Given the description of an element on the screen output the (x, y) to click on. 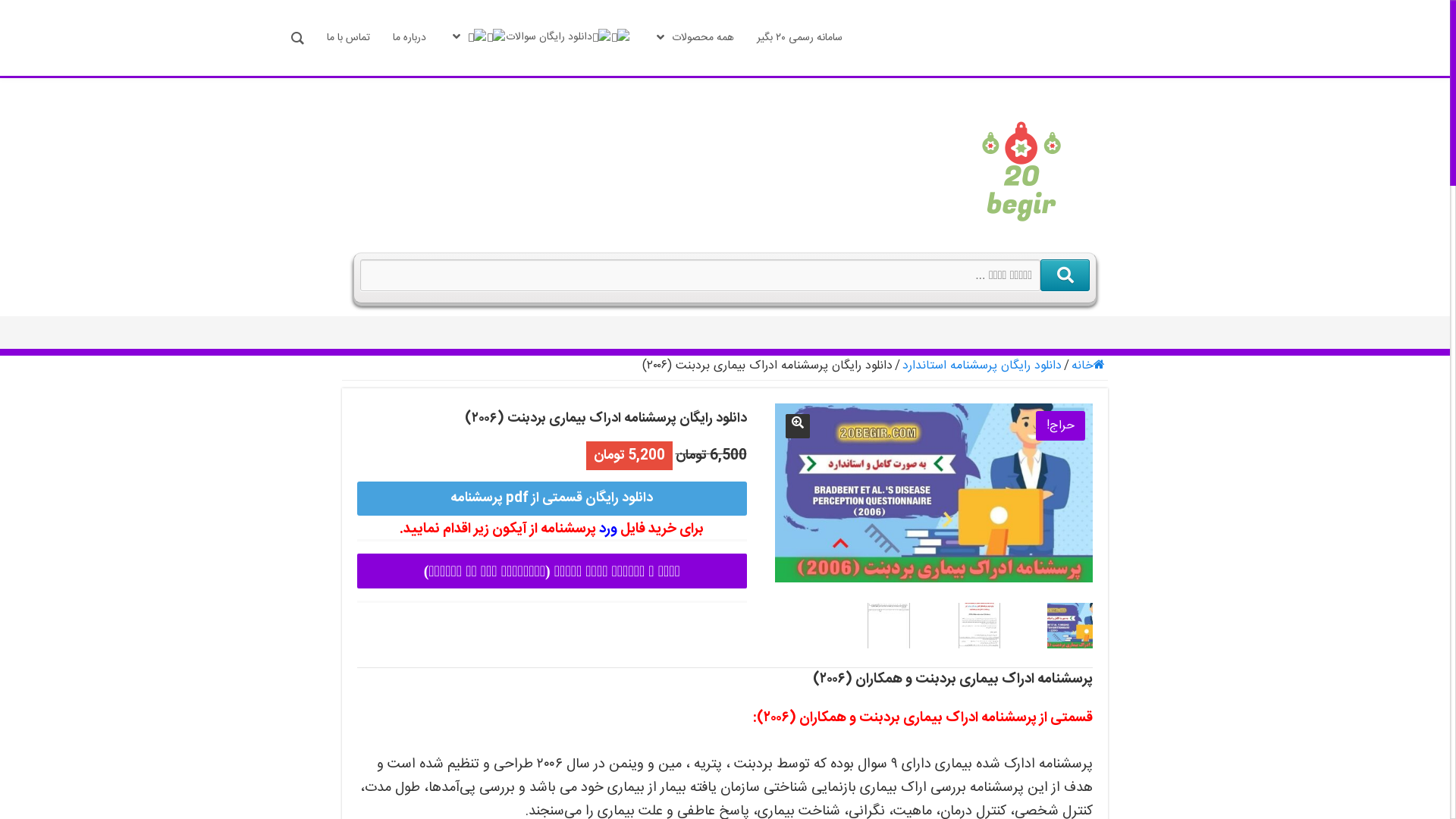
s20begir.com Element type: hover (933, 492)
